Given the description of an element on the screen output the (x, y) to click on. 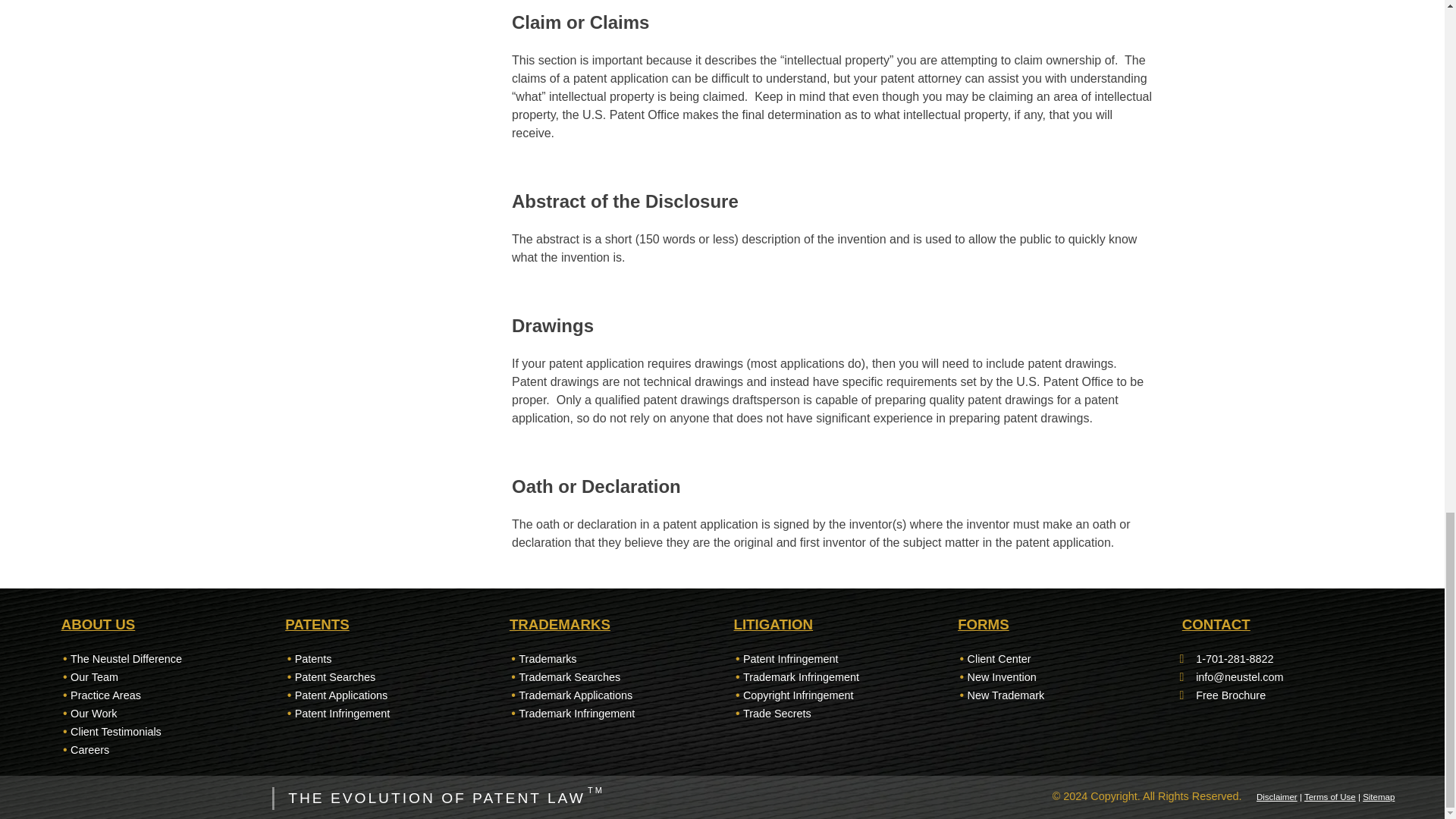
Careers (89, 749)
Patents (313, 658)
Practice Areas (105, 695)
Our Work (92, 713)
Our Team (93, 676)
The Neustel Difference (125, 658)
Client Testimonials (115, 731)
